Given the description of an element on the screen output the (x, y) to click on. 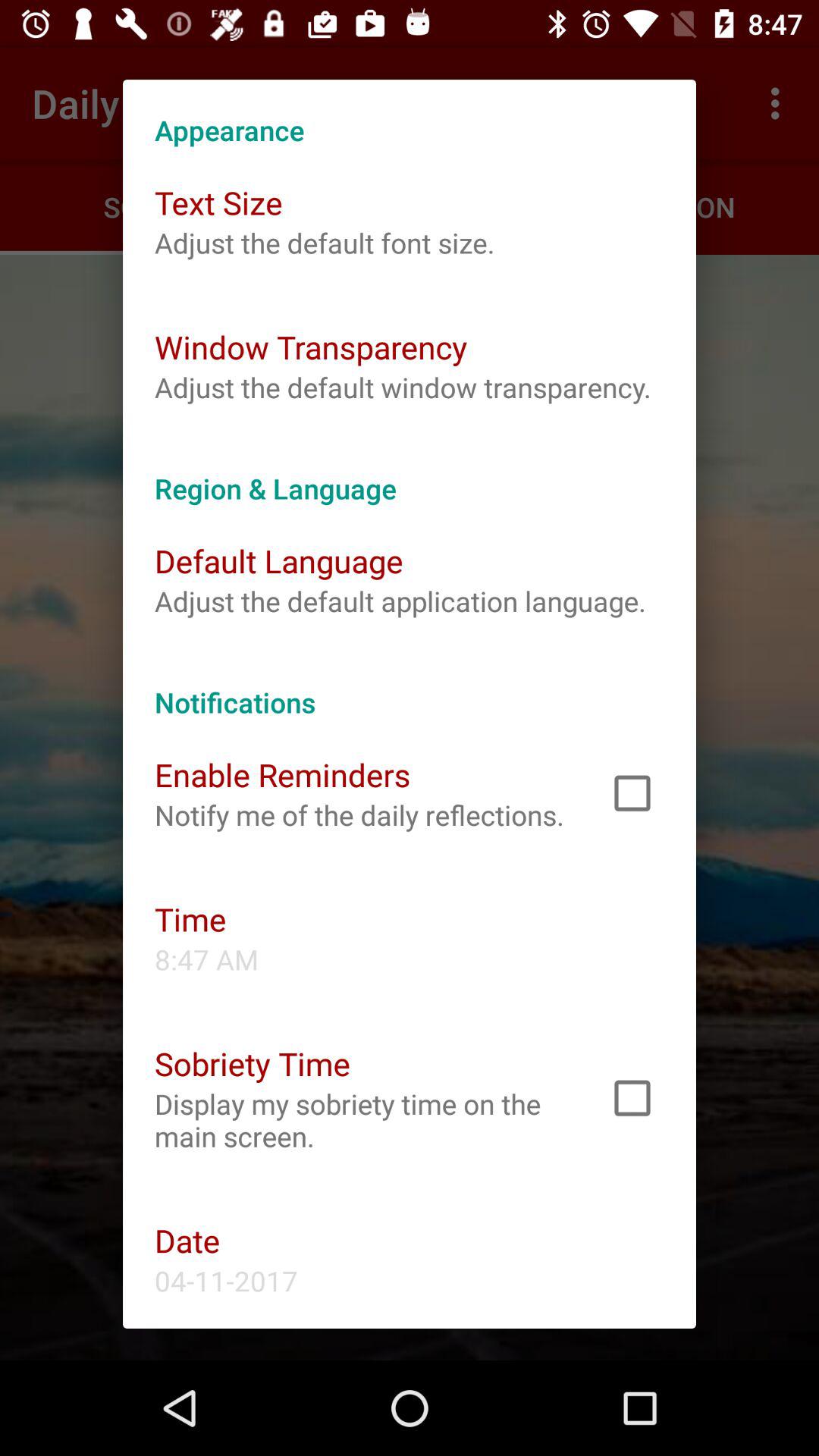
jump until appearance (409, 114)
